Given the description of an element on the screen output the (x, y) to click on. 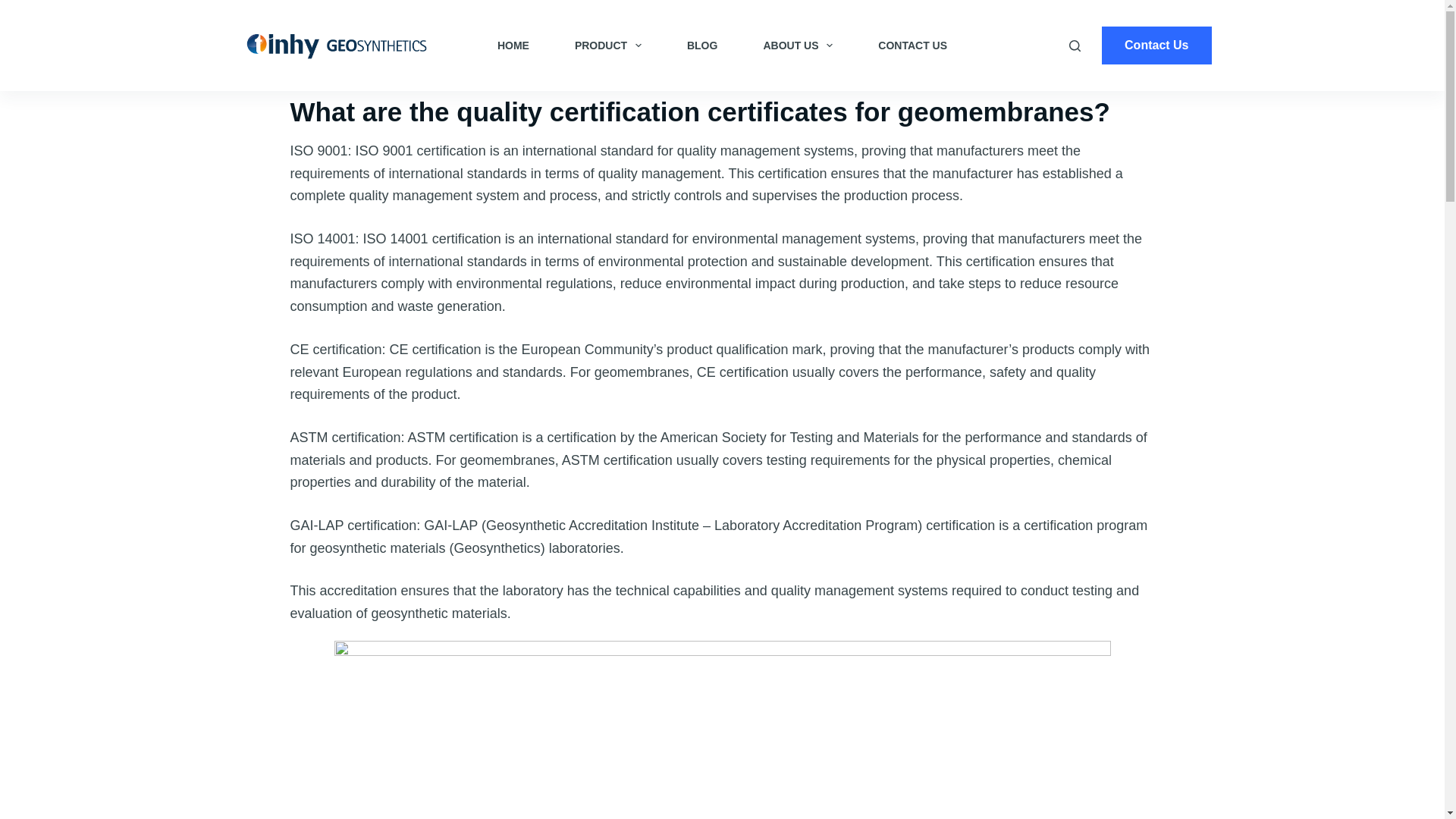
Skip to content (15, 7)
PRODUCT (607, 45)
